Given the description of an element on the screen output the (x, y) to click on. 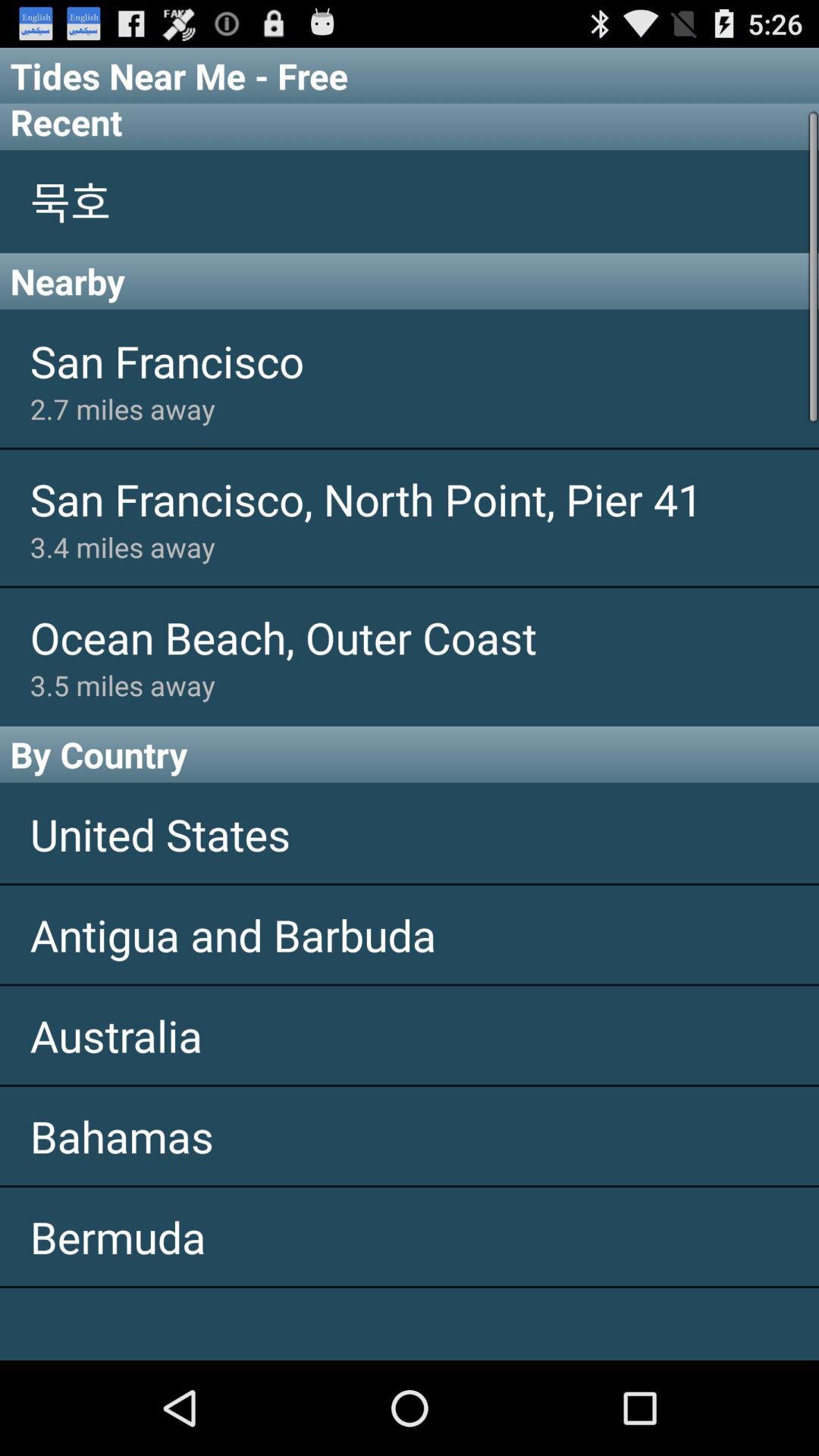
open item below the by country icon (409, 833)
